Given the description of an element on the screen output the (x, y) to click on. 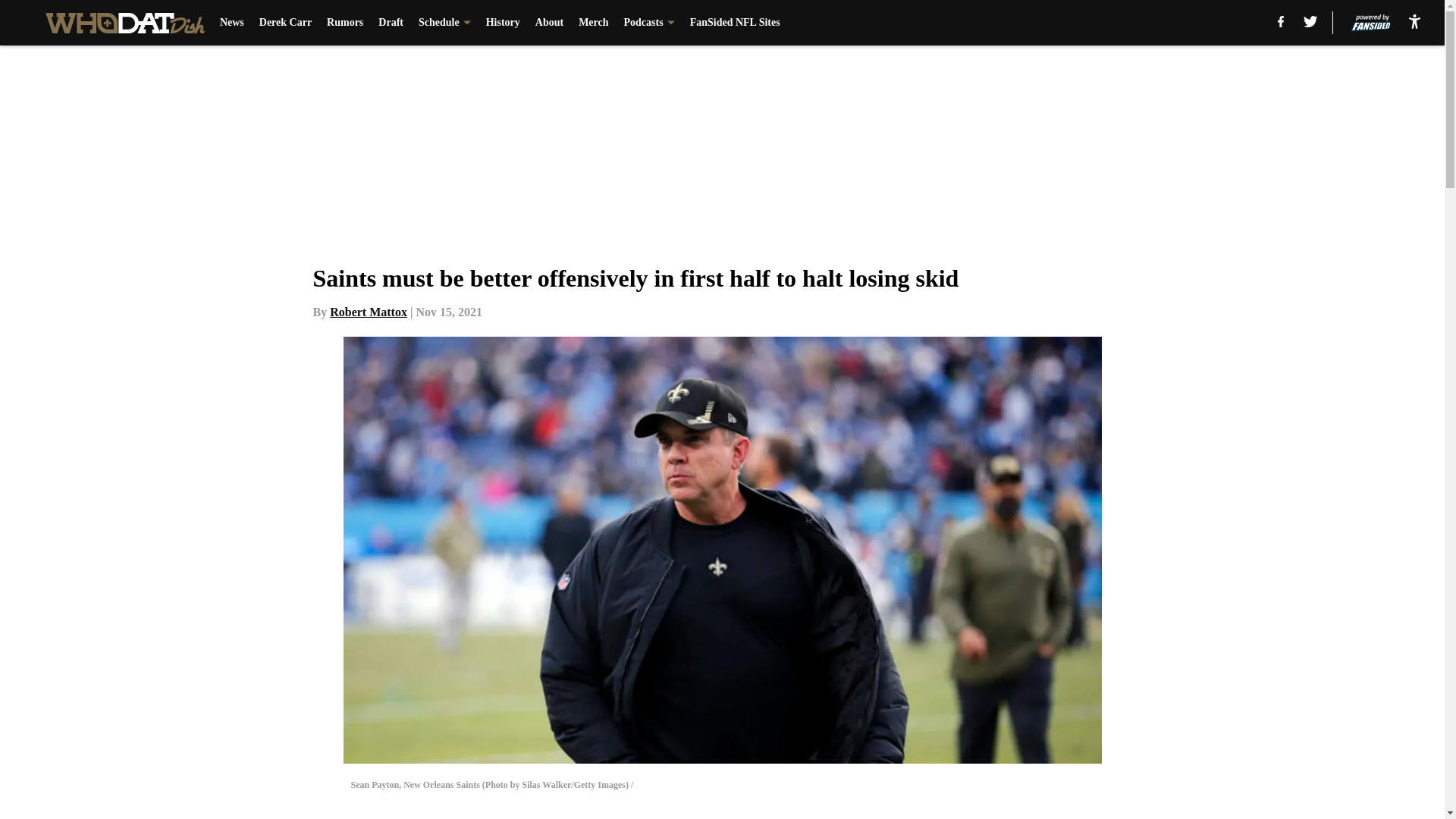
Derek Carr (285, 22)
News (231, 22)
FanSided NFL Sites (735, 22)
Rumors (344, 22)
Robert Mattox (368, 311)
History (502, 22)
Draft (390, 22)
Merch (593, 22)
About (549, 22)
